Given the description of an element on the screen output the (x, y) to click on. 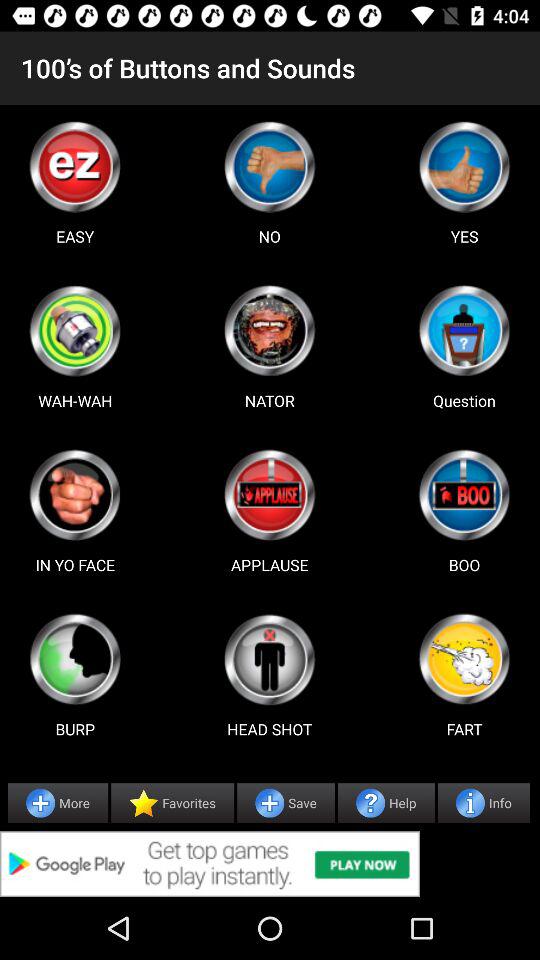
choose sound option (464, 330)
